Given the description of an element on the screen output the (x, y) to click on. 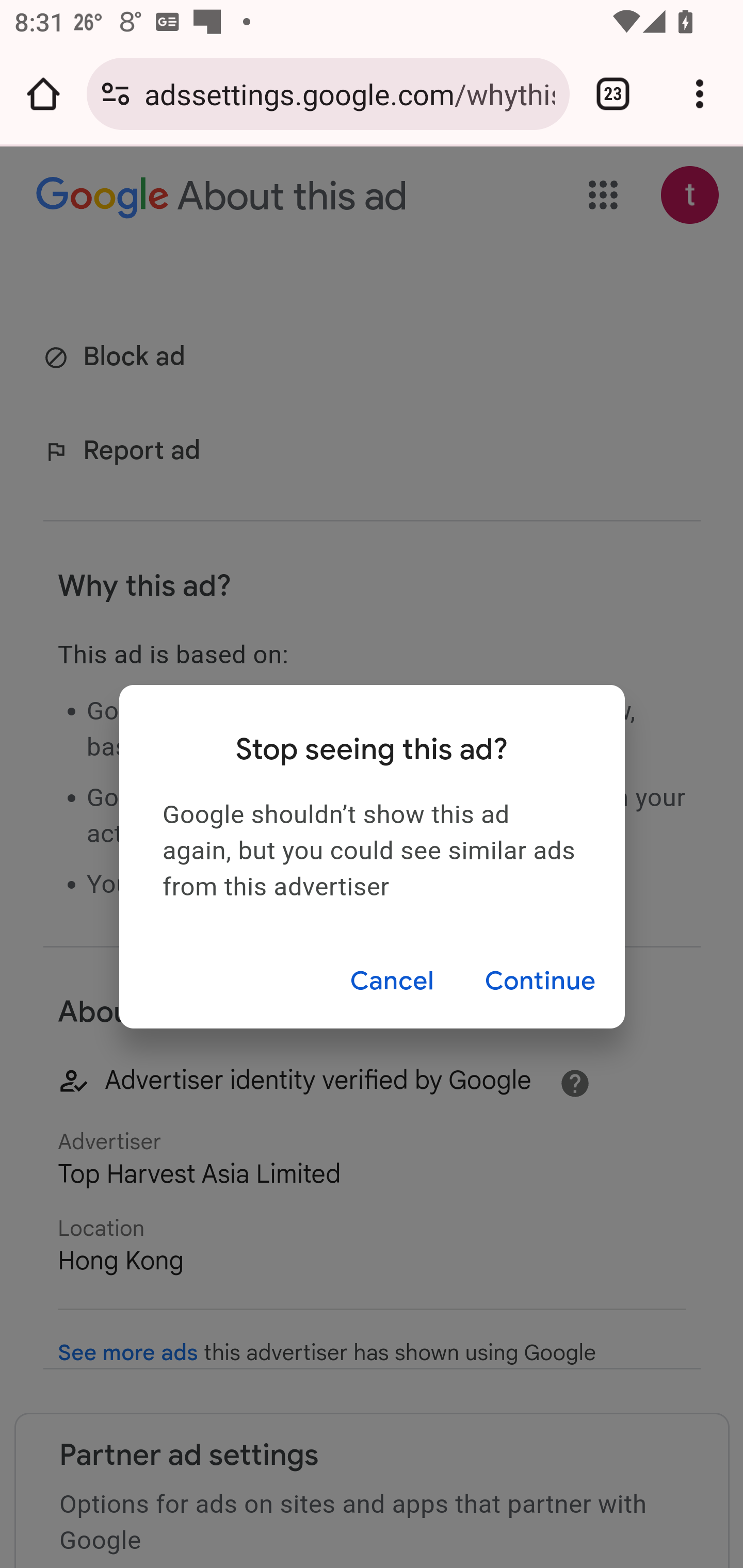
Open the home page (43, 93)
Connection is secure (115, 93)
Switch or close tabs (612, 93)
Customize and control Google Chrome (699, 93)
adssettings.google.com/whythisad (349, 92)
Cancel (391, 980)
Continue (539, 980)
